Given the description of an element on the screen output the (x, y) to click on. 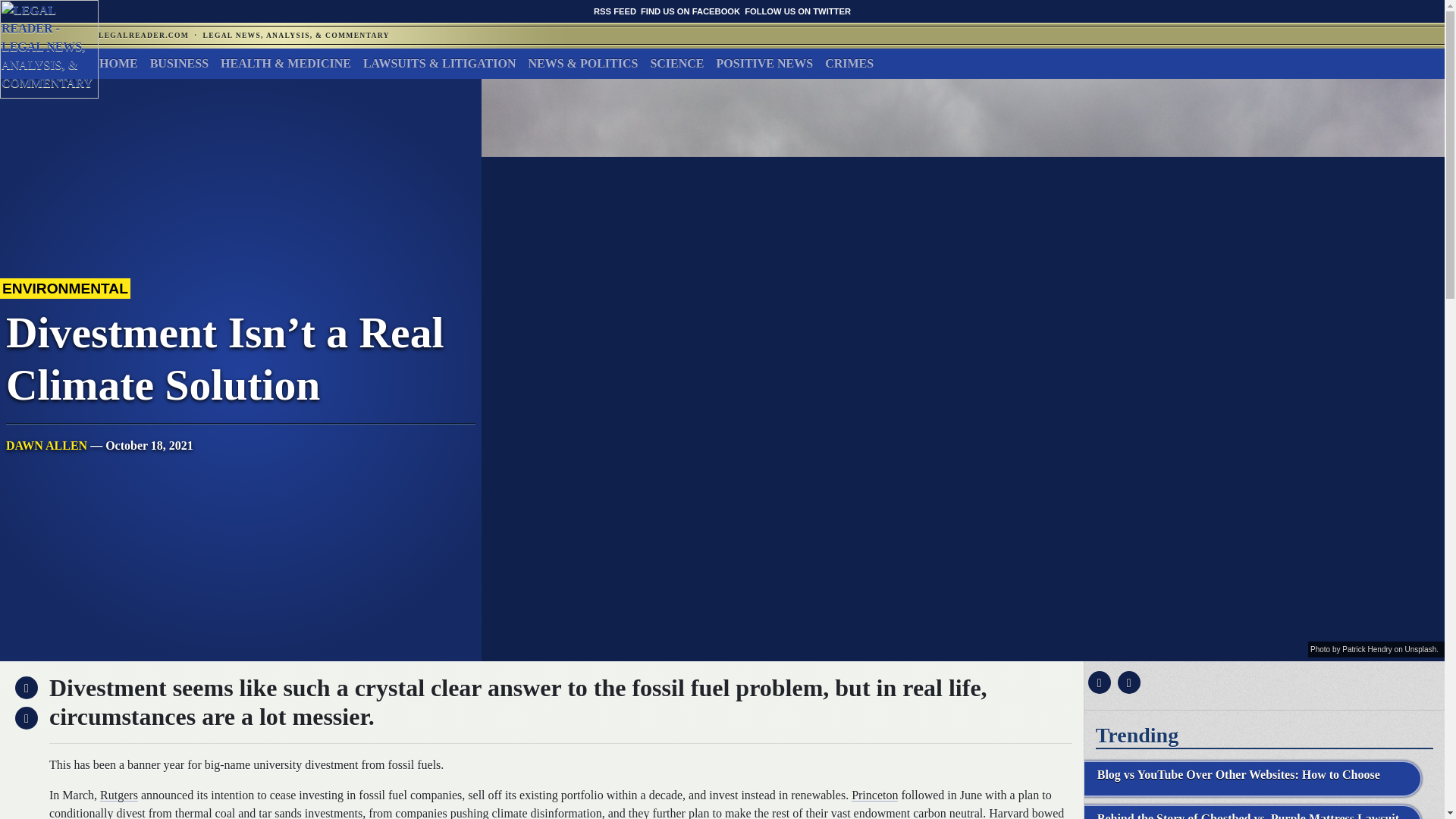
RSS FEED (615, 10)
POSITIVE NEWS (764, 63)
FOLLOW US ON TWITTER (797, 10)
Share on facebook (1097, 682)
BUSINESS (179, 63)
SCIENCE (676, 63)
Business (179, 63)
Posts by Dawn Allen (46, 445)
Harvard (1007, 812)
Follow Legal Reader on Twitter (797, 10)
DAWN ALLEN (46, 445)
Legal Reader News Feed (615, 10)
Find Legal Reader on Facebook (689, 10)
Rutgers (119, 794)
FIND US ON FACEBOOK (689, 10)
